Given the description of an element on the screen output the (x, y) to click on. 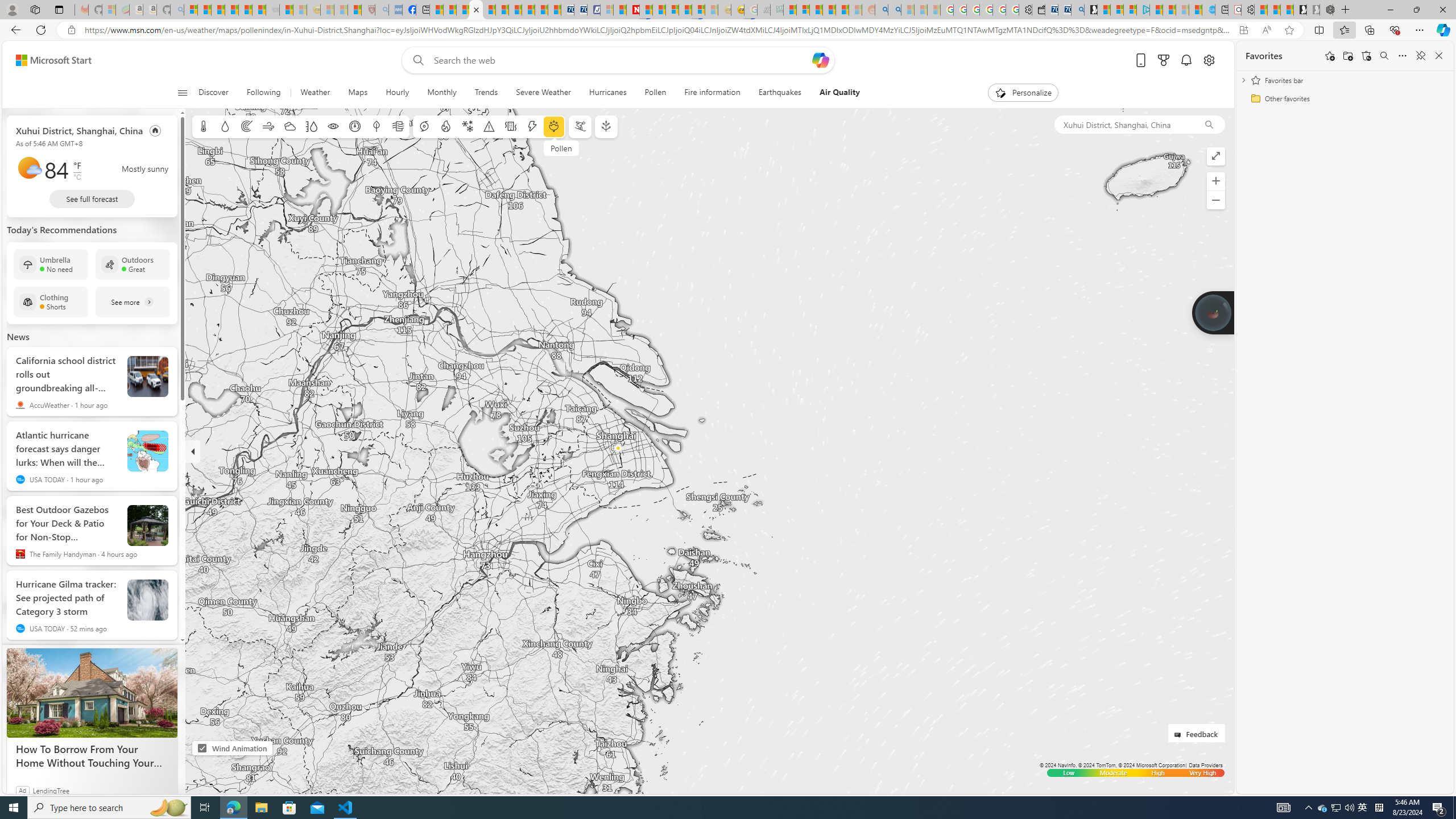
Combat Siege - Sleeping (271, 9)
Open navigation menu (182, 92)
Radar (246, 126)
Maps (357, 92)
Home | Sky Blue Bikes - Sky Blue Bikes (1208, 9)
Visibility (333, 126)
Hurricanes (607, 92)
